Given the description of an element on the screen output the (x, y) to click on. 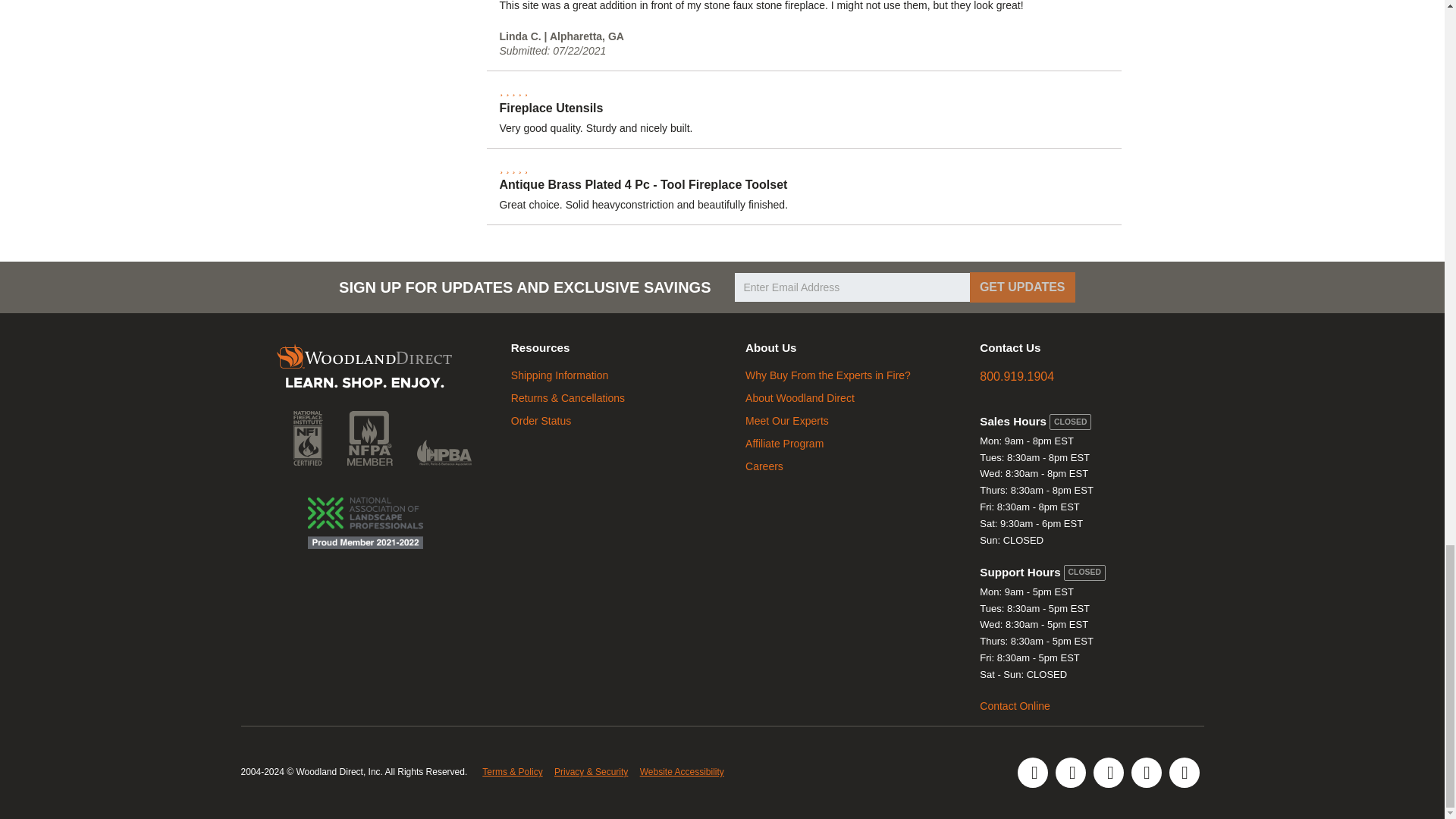
Go to Shipping Information (559, 375)
Go to Why Buy From the Experts in Fire (828, 375)
Go to Contact Online (1014, 705)
Go to Affiliate Program (784, 443)
Go to Meet Our Experts (786, 420)
Go Home (363, 368)
Go to Careers (764, 466)
Go to About Woodland Direct (799, 398)
Go to Order Status (540, 420)
Call 800.919.1904 (1016, 376)
